Given the description of an element on the screen output the (x, y) to click on. 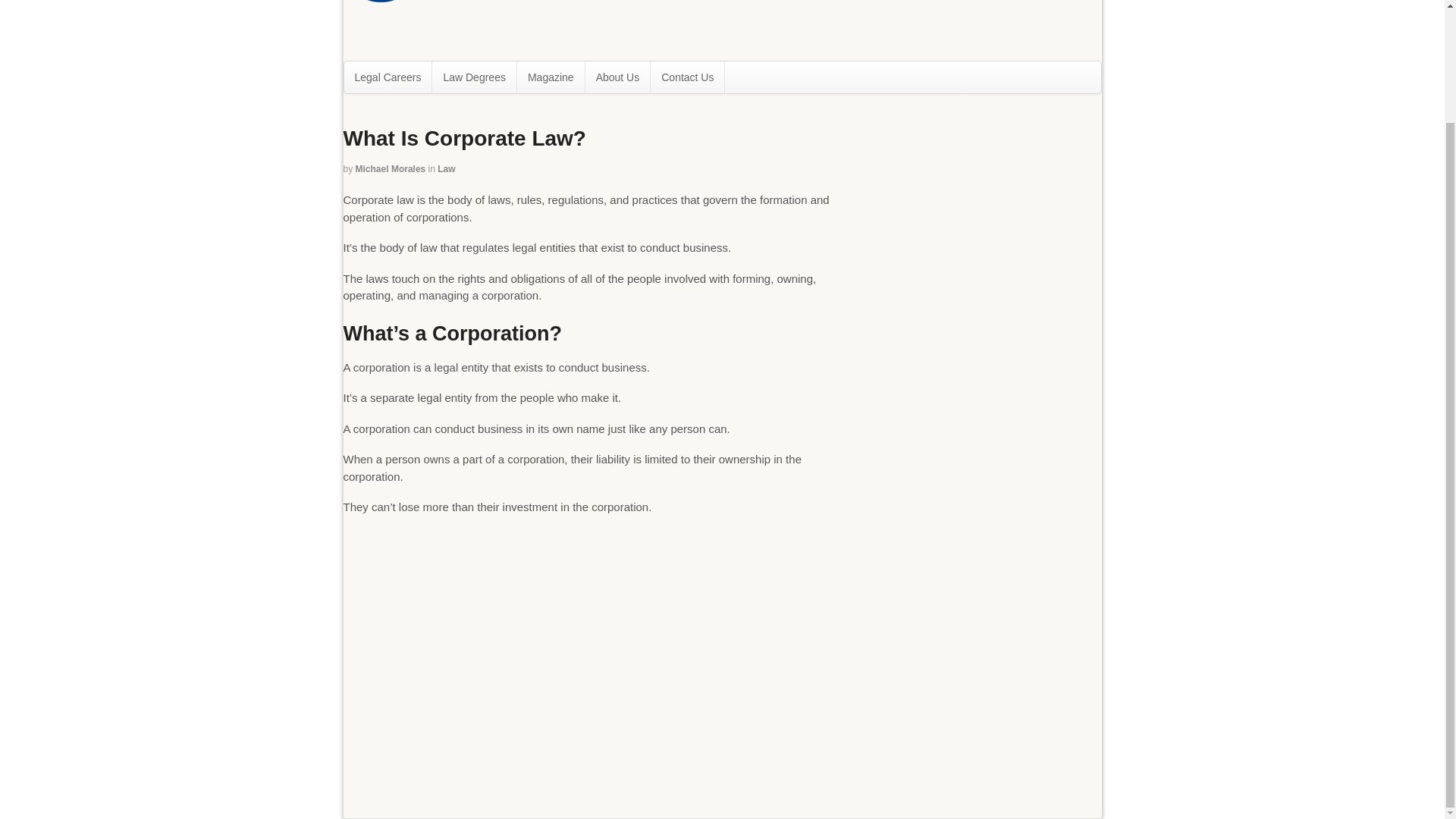
Magazine (550, 77)
Legal Careers (387, 77)
About Us (617, 77)
Contact Us (686, 77)
Posts by Michael Morales (390, 168)
Law (446, 168)
Michael Morales (390, 168)
Law Degrees (474, 77)
